Given the description of an element on the screen output the (x, y) to click on. 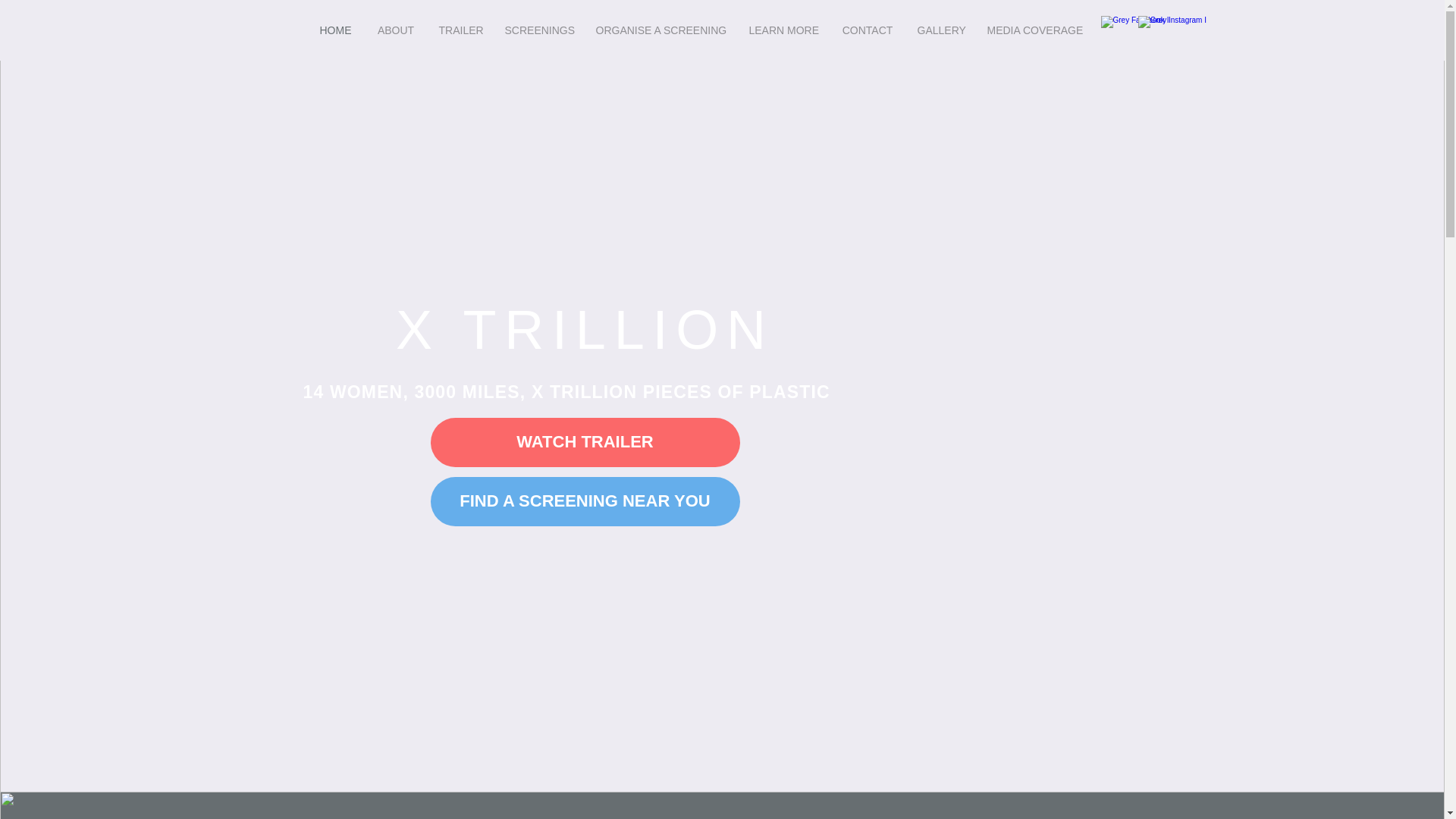
GALLERY (940, 30)
HOME (334, 30)
SCREENINGS (538, 30)
WATCH TRAILER (584, 441)
CONTACT (867, 30)
ABOUT (395, 30)
LEARN MORE (782, 30)
MEDIA COVERAGE (1034, 30)
FIND A SCREENING NEAR YOU (584, 501)
TRAILER (460, 30)
ORGANISE A SCREENING (659, 30)
